Given the description of an element on the screen output the (x, y) to click on. 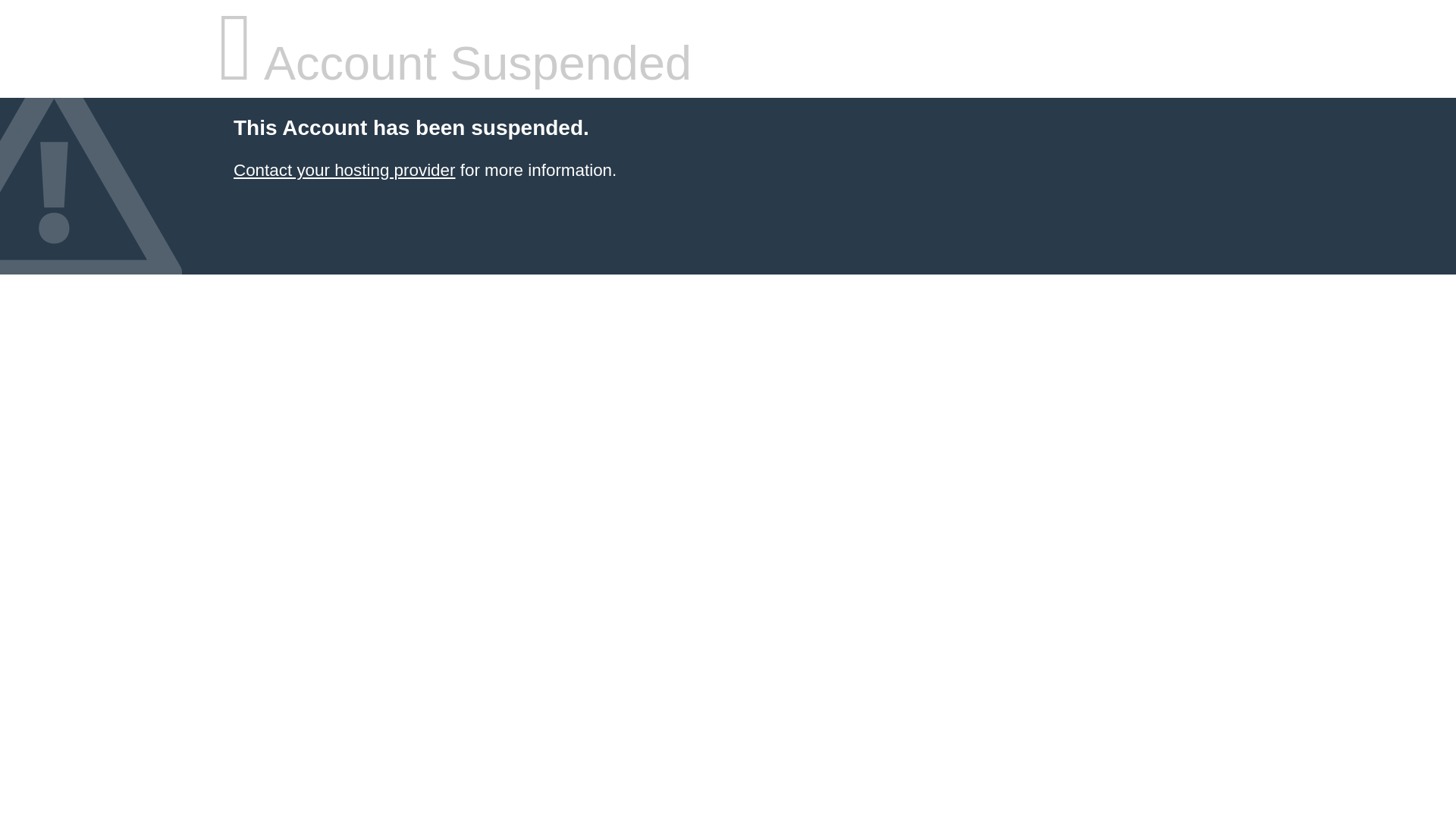
Contact your hosting provider (343, 169)
